Given the description of an element on the screen output the (x, y) to click on. 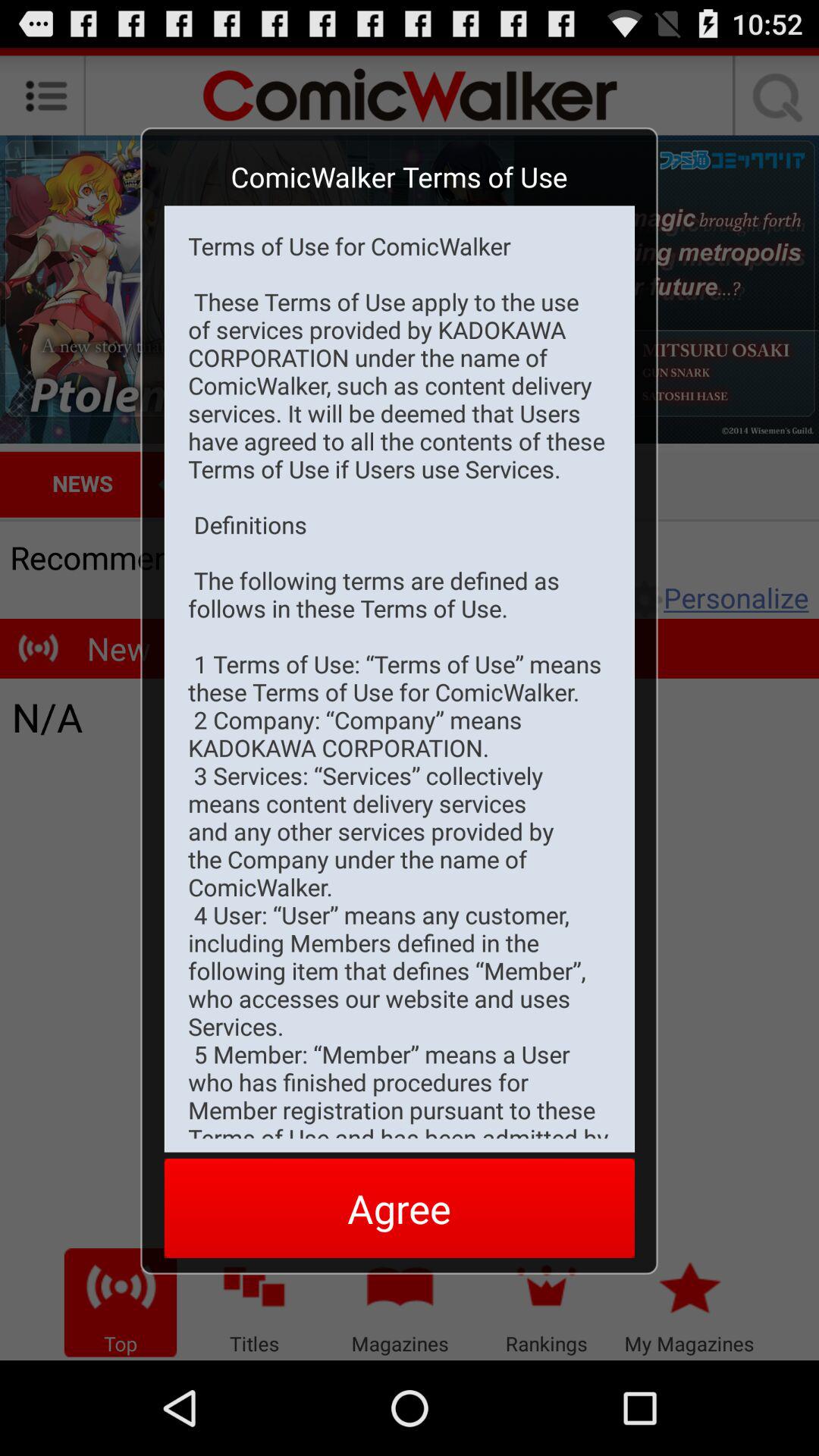
flip until the agree icon (399, 1208)
